Given the description of an element on the screen output the (x, y) to click on. 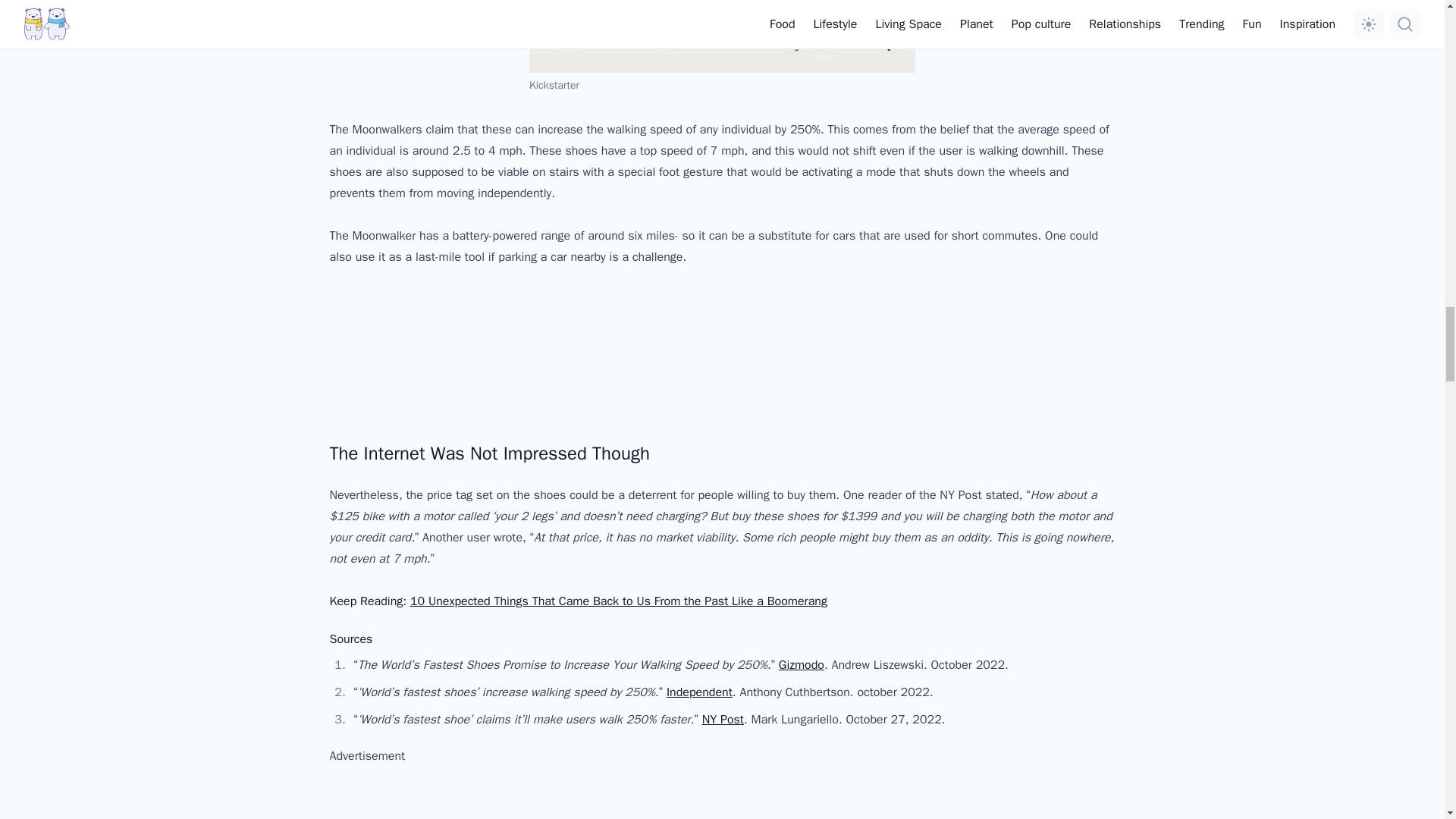
Shift Moonwalkers Launch (442, 348)
Independent (699, 692)
NY Post (722, 719)
Gizmodo (801, 664)
